Given the description of an element on the screen output the (x, y) to click on. 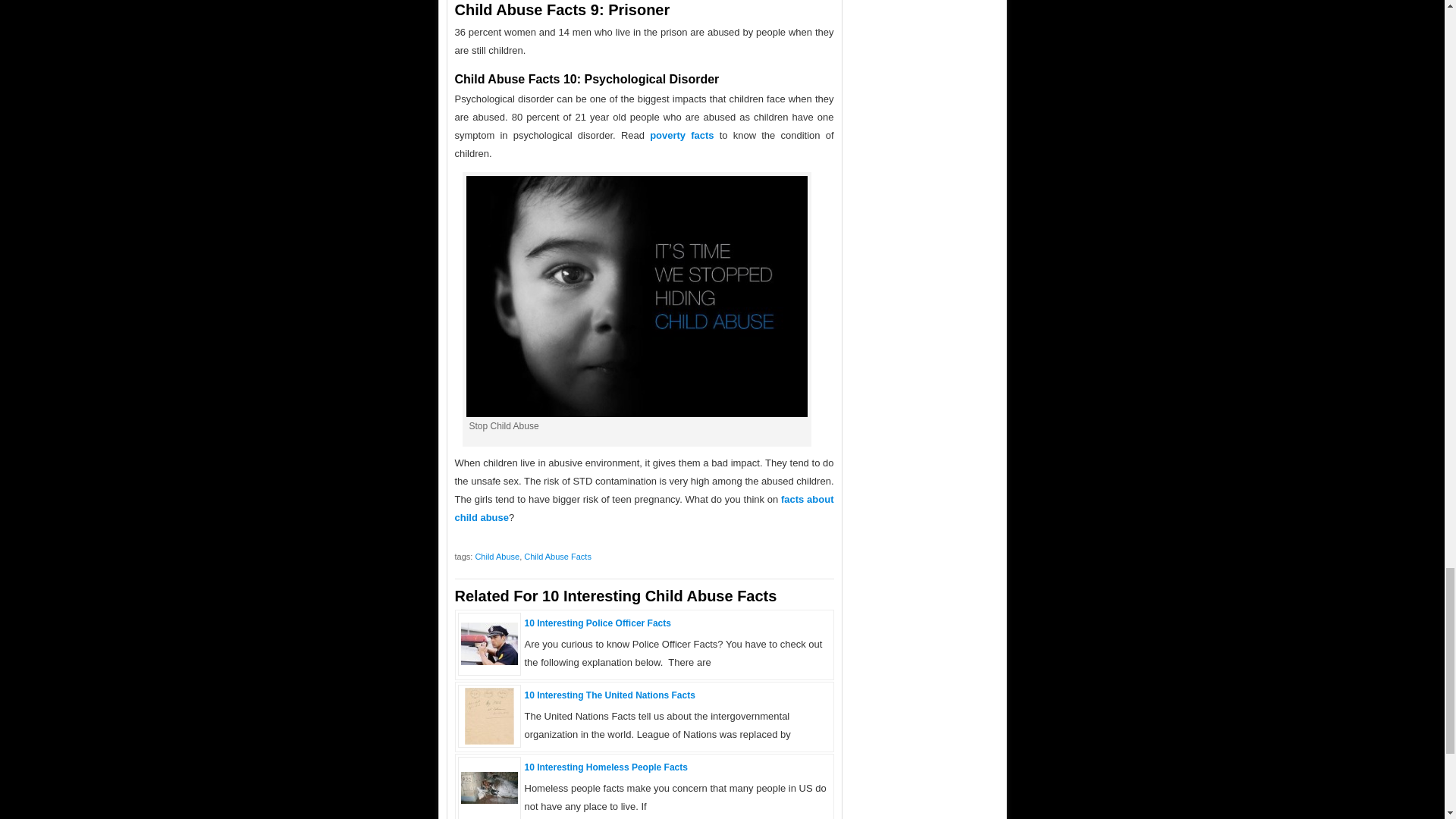
10 Interesting Police Officer Facts (597, 623)
10 Interesting Homeless People Facts (605, 767)
poverty facts (681, 134)
Child Abuse Facts (557, 556)
10 Interesting the United Nations Facts (488, 740)
10 Interesting the United Nations Facts (609, 695)
10 Interesting Homeless People Facts (605, 767)
facts about child abuse (644, 508)
10 Interesting Police Officer Facts (489, 661)
10 Interesting The United Nations Facts (609, 695)
